Given the description of an element on the screen output the (x, y) to click on. 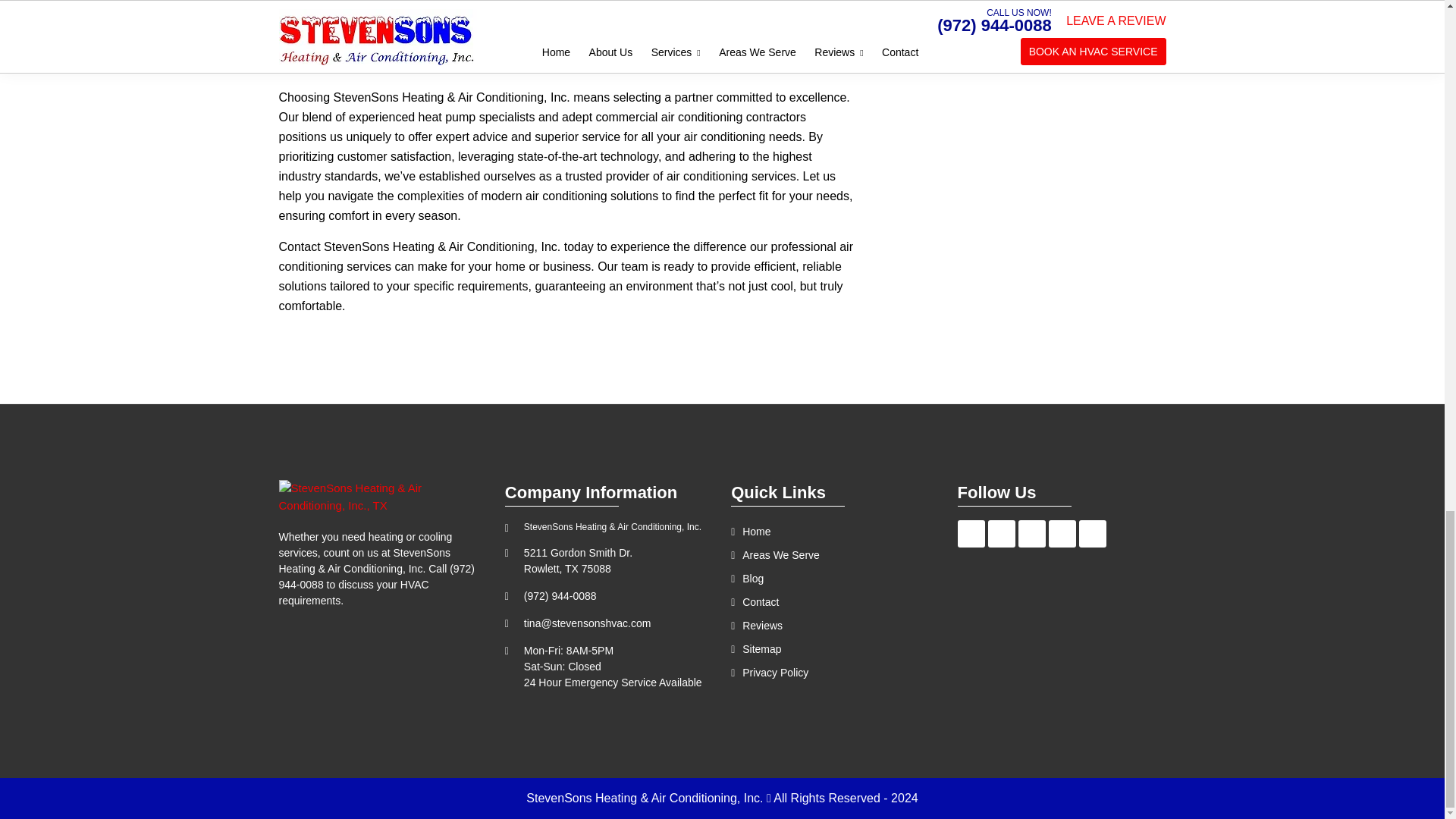
Twitter (1031, 533)
View Our Instagram Profile (1092, 533)
View Our Yelp Profile (1061, 533)
Visit Our Facebook Page (971, 533)
View Our Google Business Profile (1001, 533)
